Given the description of an element on the screen output the (x, y) to click on. 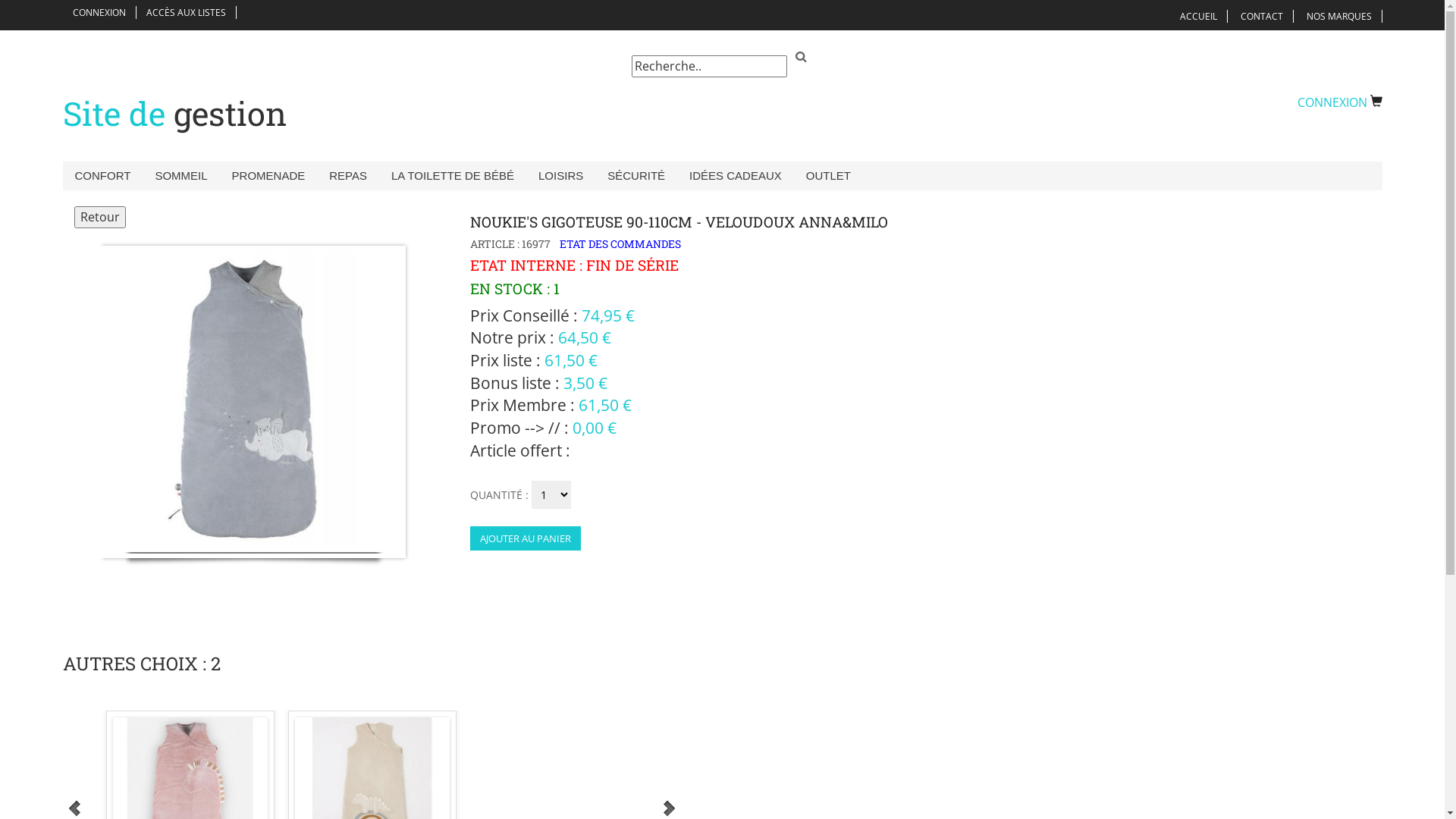
LOISIRS Element type: text (560, 175)
   ETAT DES COMMANDES Element type: text (616, 243)
CONNEXION Element type: text (98, 12)
CONTACT Element type: text (1261, 15)
Retour Element type: text (99, 217)
Ajouter au panier Element type: text (525, 537)
Site de gestion Element type: text (173, 113)
SOMMEIL Element type: text (180, 175)
REPAS Element type: text (347, 175)
CONNEXION Element type: text (1338, 101)
ACCUEIL Element type: text (1197, 15)
PROMENADE Element type: text (268, 175)
CONFORT Element type: text (102, 175)
NOS MARQUES Element type: text (1338, 15)
OUTLET Element type: text (827, 175)
